Given the description of an element on the screen output the (x, y) to click on. 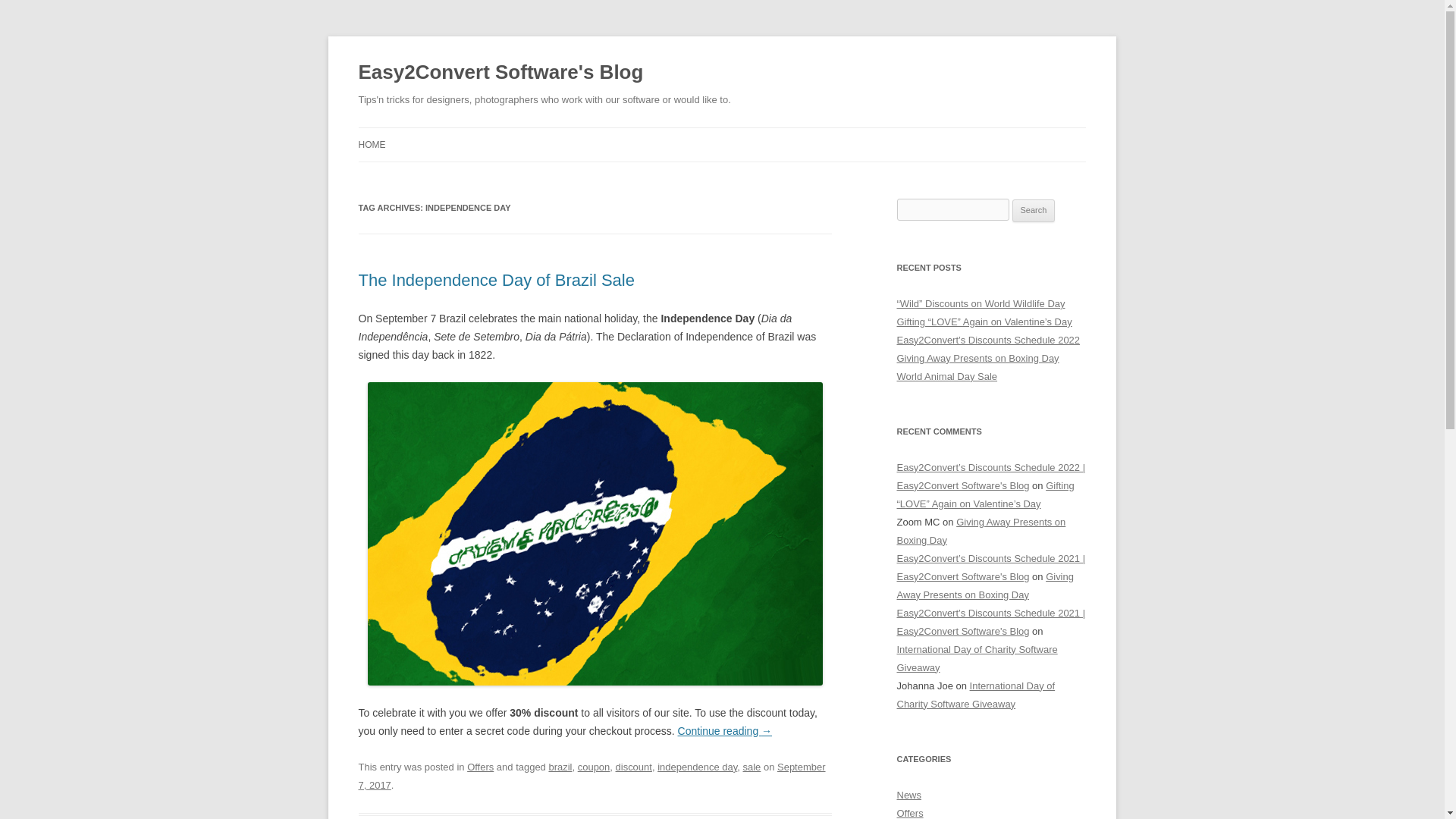
Easy2Convert Software's Blog (500, 72)
discount (633, 767)
World Animal Day Sale (946, 376)
The Independence Day of Brazil Sale (495, 280)
Easy2Convert Software's Blog (500, 72)
Search (1033, 210)
Search (1033, 210)
Offers (480, 767)
independence day (697, 767)
coupon (594, 767)
September 7, 2017 (591, 776)
International Day of Charity Software Giveaway (975, 695)
Offers (909, 813)
Giving Away Presents on Boxing Day (984, 585)
Giving Away Presents on Boxing Day (977, 357)
